Given the description of an element on the screen output the (x, y) to click on. 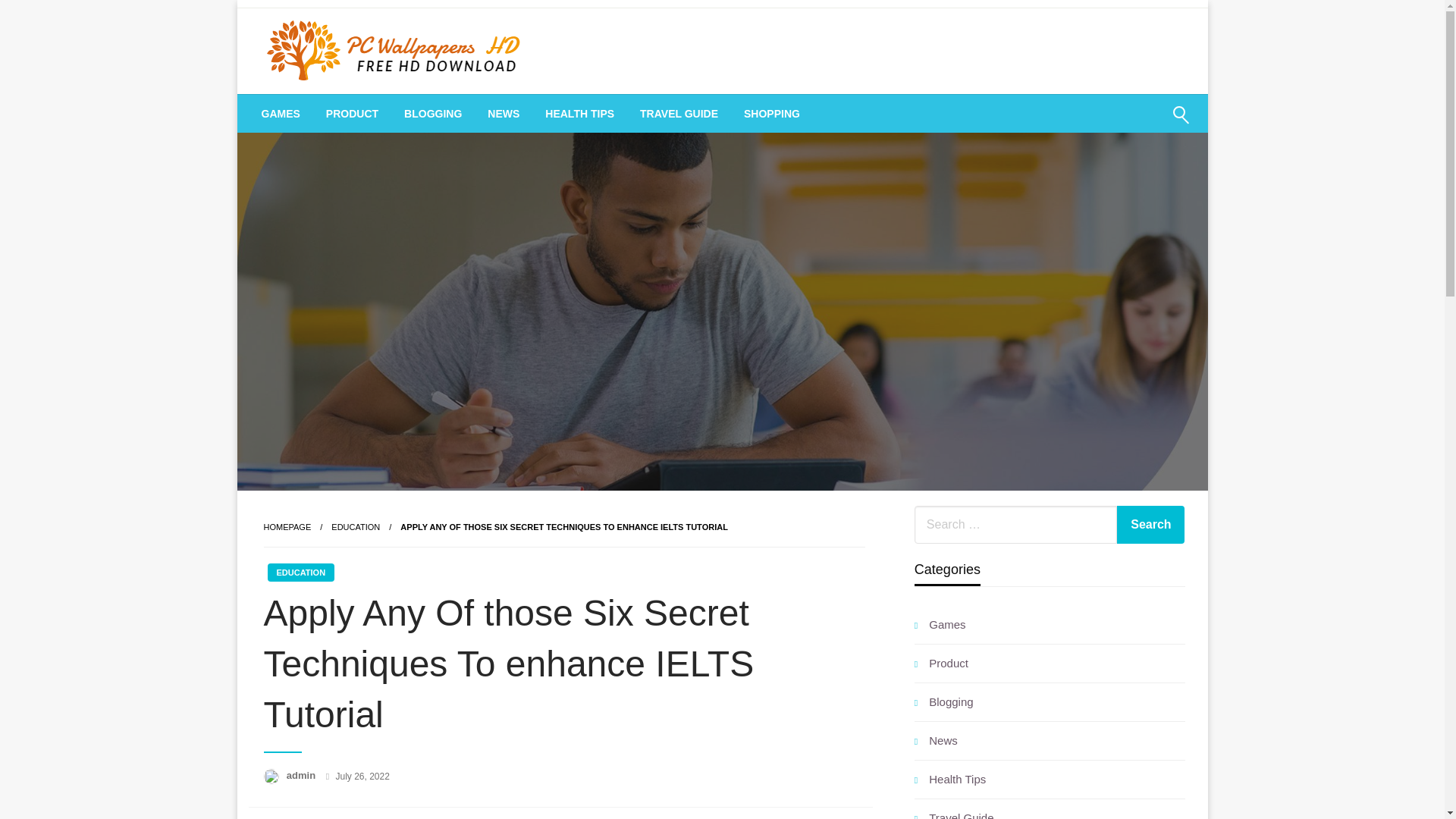
Search (1150, 524)
BLOGGING (432, 113)
EDUCATION (355, 526)
Education (355, 526)
HOMEPAGE (287, 526)
July 26, 2022 (361, 776)
PRODUCT (352, 113)
HEALTH TIPS (579, 113)
admin (302, 775)
Homepage (287, 526)
